Given the description of an element on the screen output the (x, y) to click on. 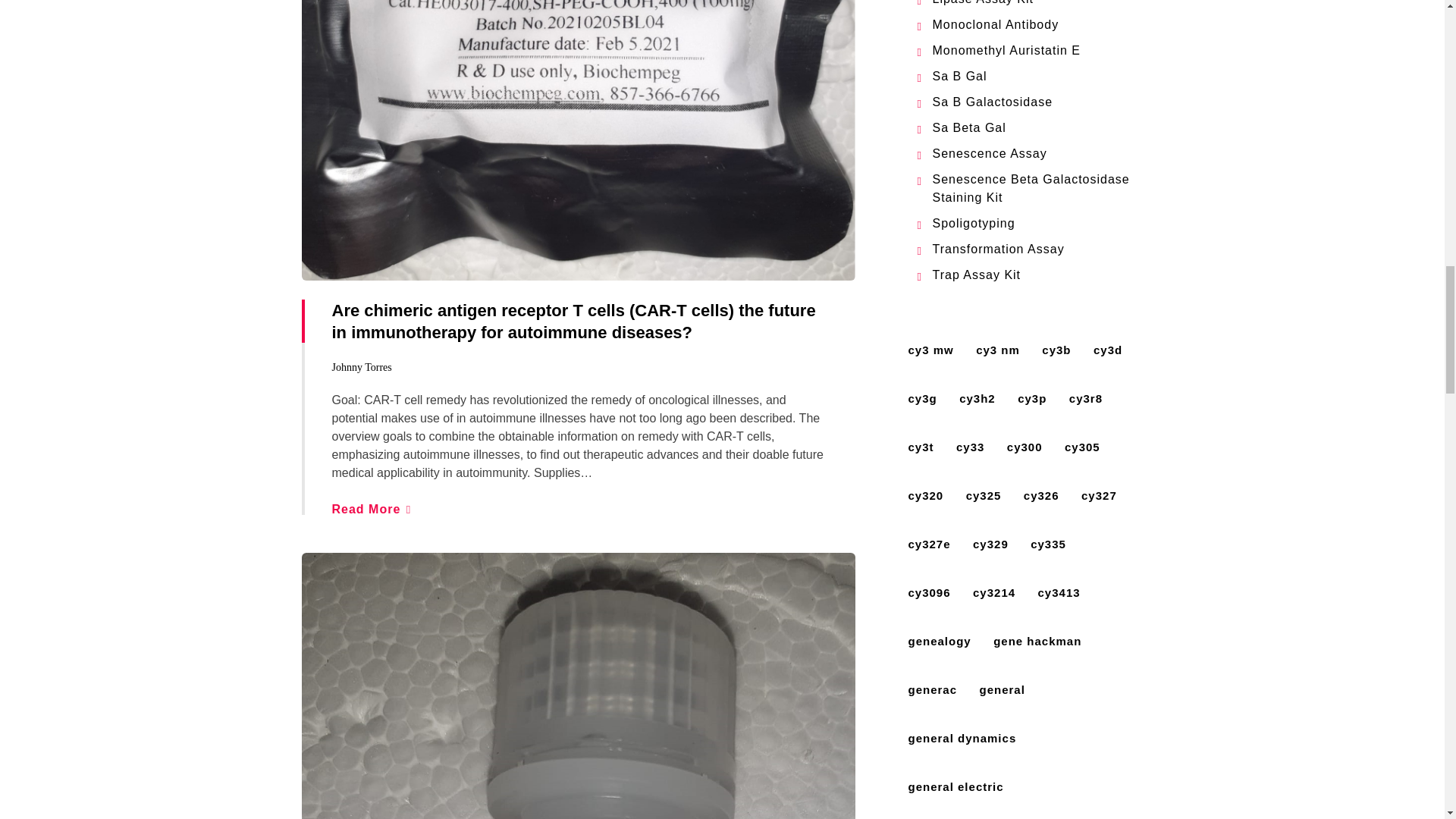
Johnny Torres (361, 367)
Read More (370, 508)
